Given the description of an element on the screen output the (x, y) to click on. 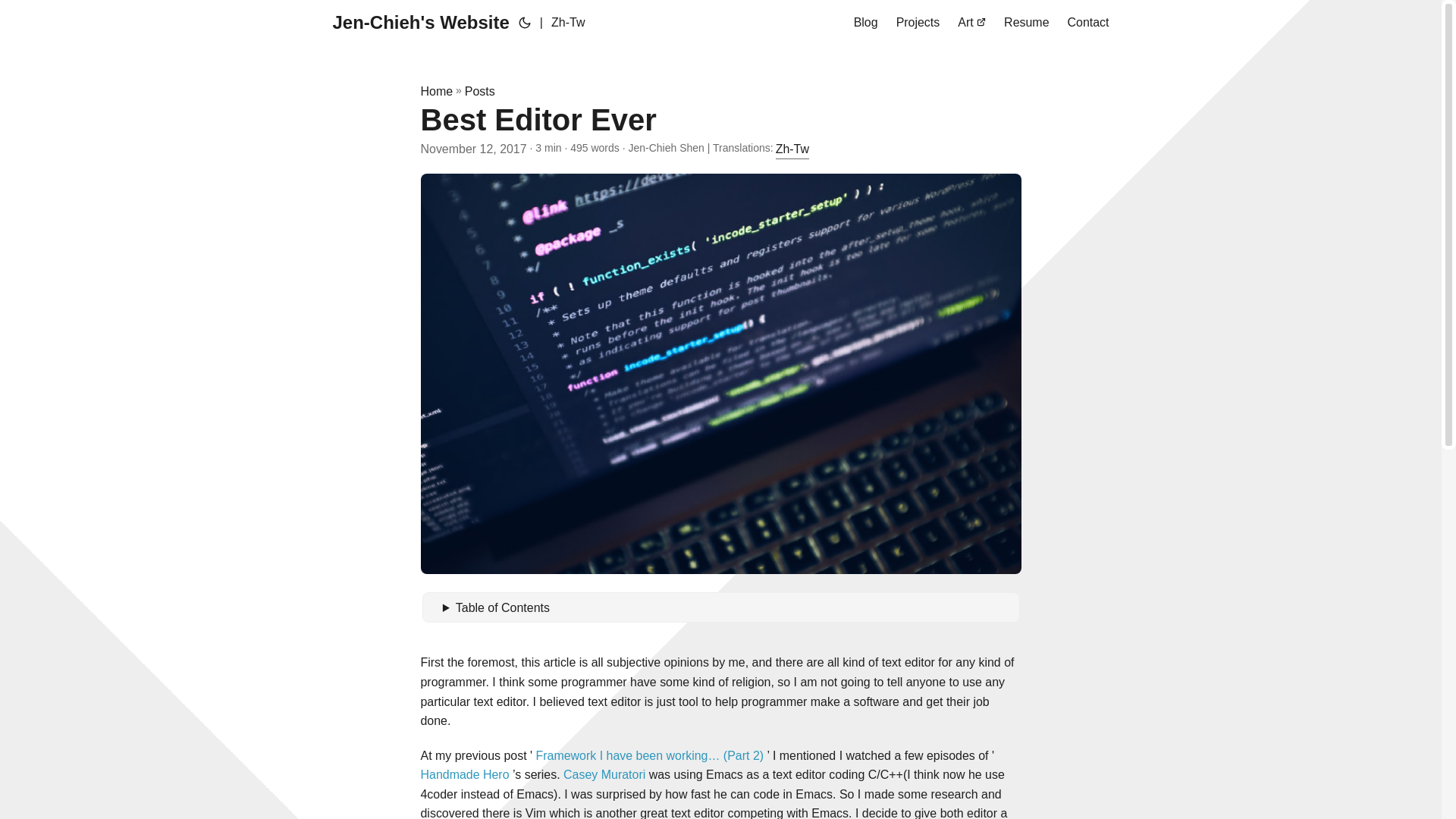
Jen-Chieh's Website (419, 22)
Posts (479, 91)
Zh-Tw (792, 148)
Resume (1026, 22)
Contact (1088, 22)
Home (436, 91)
Casey Muratori (604, 774)
Contact (1088, 22)
Resume (1026, 22)
Handmade Hero (464, 774)
